Given the description of an element on the screen output the (x, y) to click on. 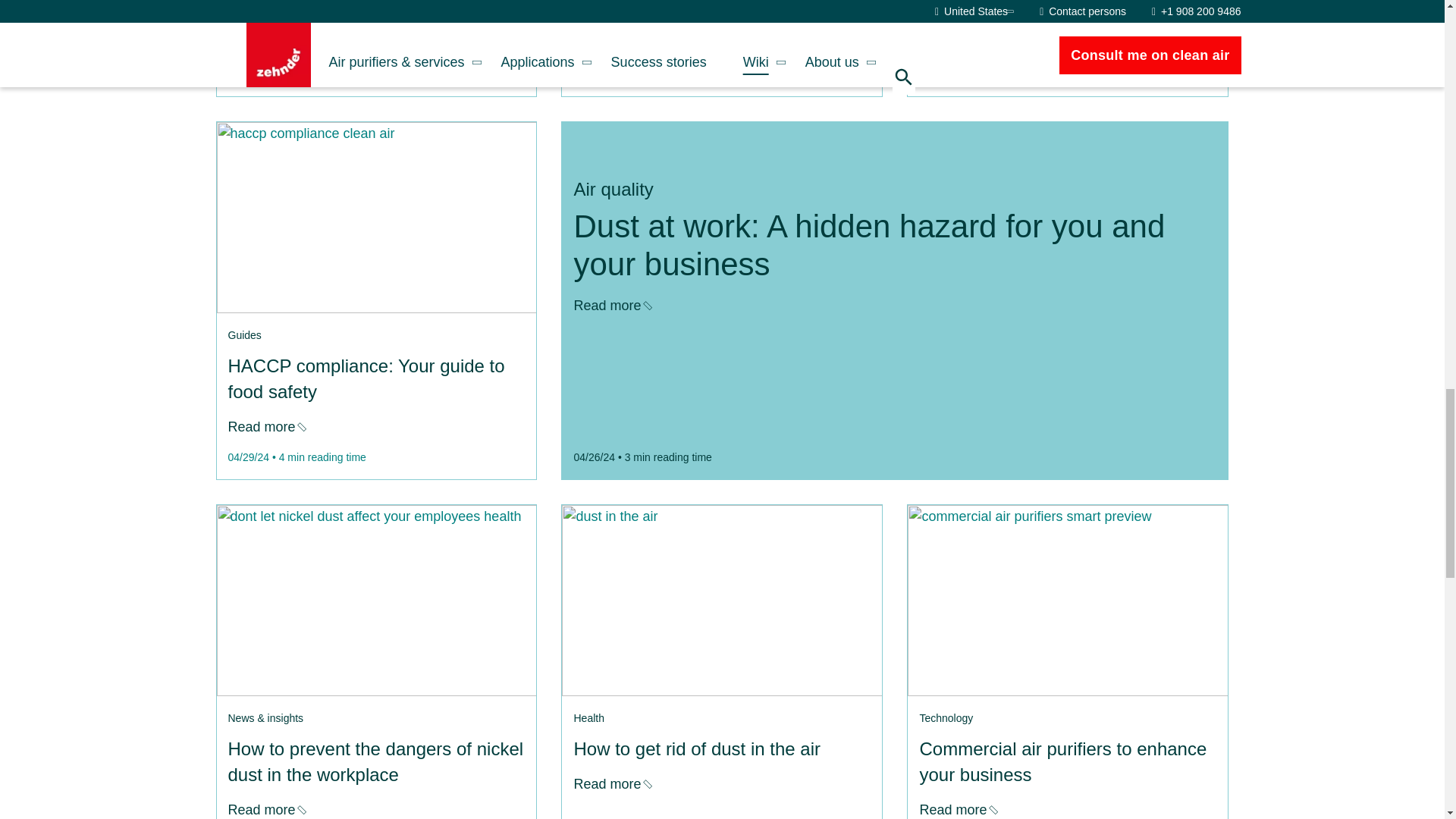
HACCP compliance: Your guide to food safety (265, 426)
Unseen risks: Clean your air from cardboard dust hazards (611, 43)
HACCP compliance: Your guide to food safety (375, 217)
Dust at work: A hidden hazard for you and your business (611, 305)
How to ensure your workplace is silica dust safe (956, 43)
